Given the description of an element on the screen output the (x, y) to click on. 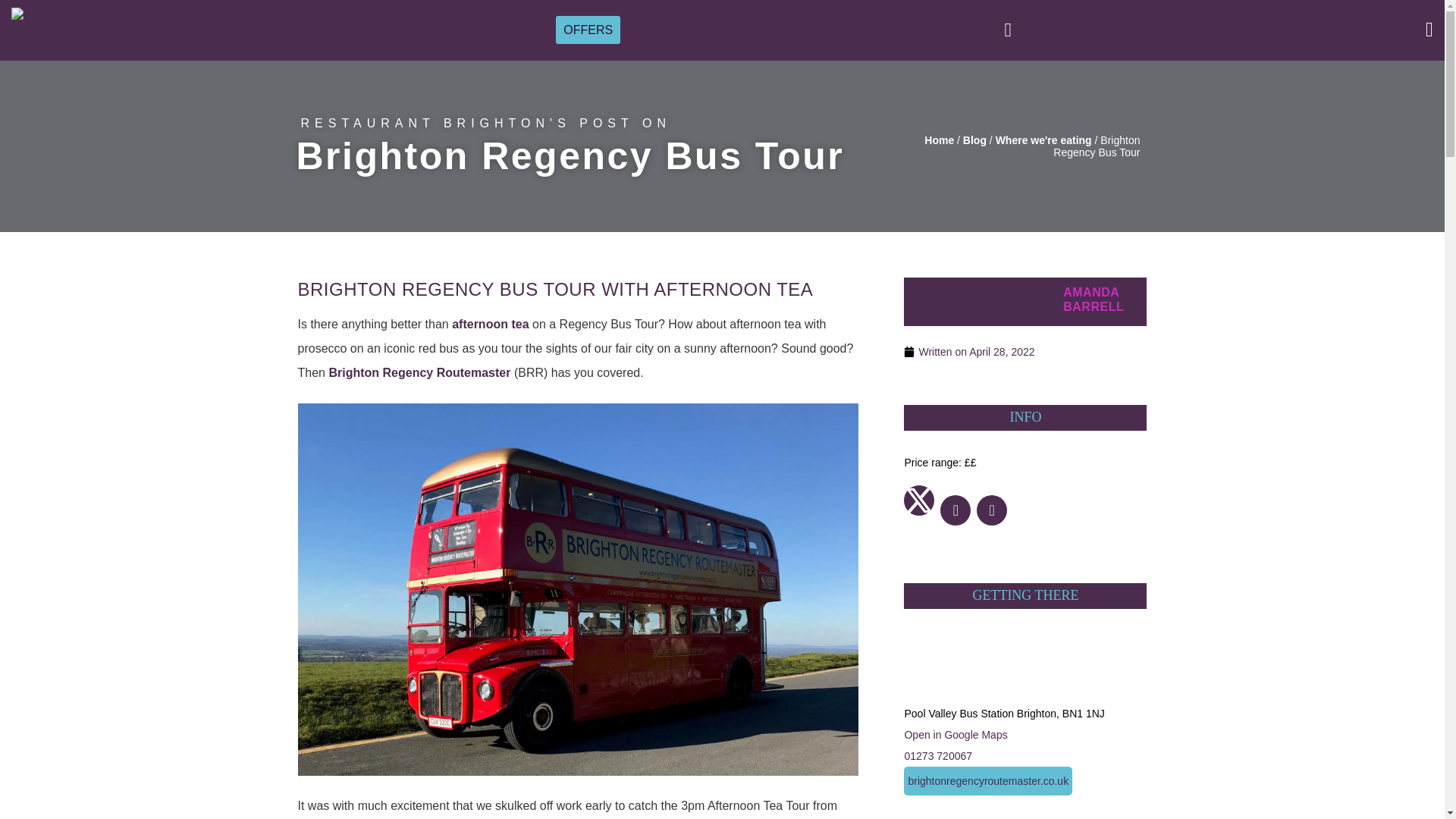
OFFERS (588, 29)
